Given the description of an element on the screen output the (x, y) to click on. 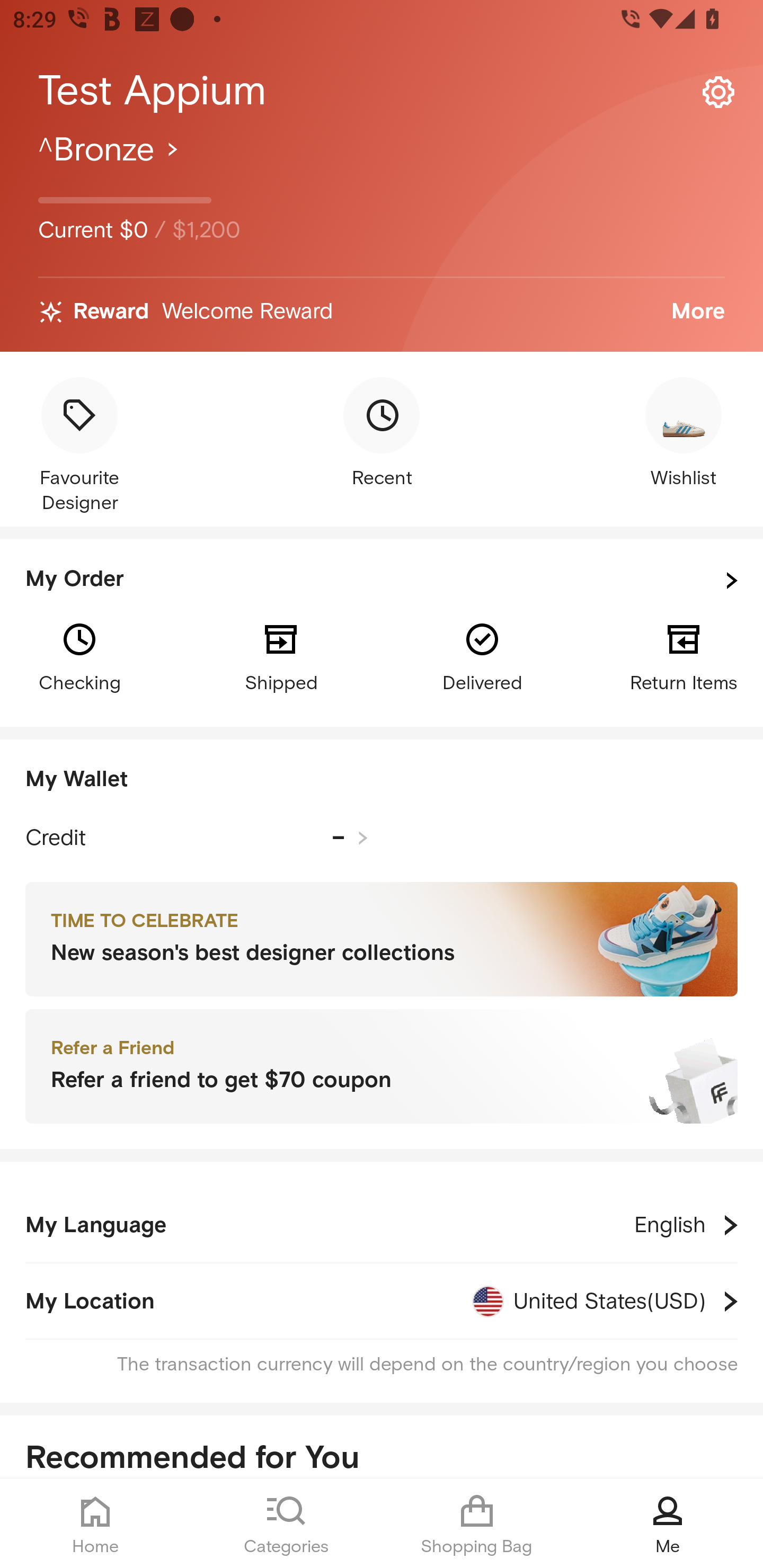
Test Appium (381, 91)
Current $0 / $1,200 Reward Welcome Reward More (381, 240)
Reward Welcome Reward More (381, 311)
Favourite Designer (79, 446)
Recent (381, 433)
Wishlist (683, 433)
My Order (381, 580)
Checking (79, 656)
Shipped (280, 656)
Delivered (482, 656)
Return Items (683, 656)
My Wallet (381, 779)
Credit - (196, 837)
Refer a Friend Refer a friend to get $70 coupon (381, 1066)
My Language English (381, 1224)
My Location United States(USD) (381, 1301)
Home (95, 1523)
Categories (285, 1523)
Shopping Bag (476, 1523)
